Given the description of an element on the screen output the (x, y) to click on. 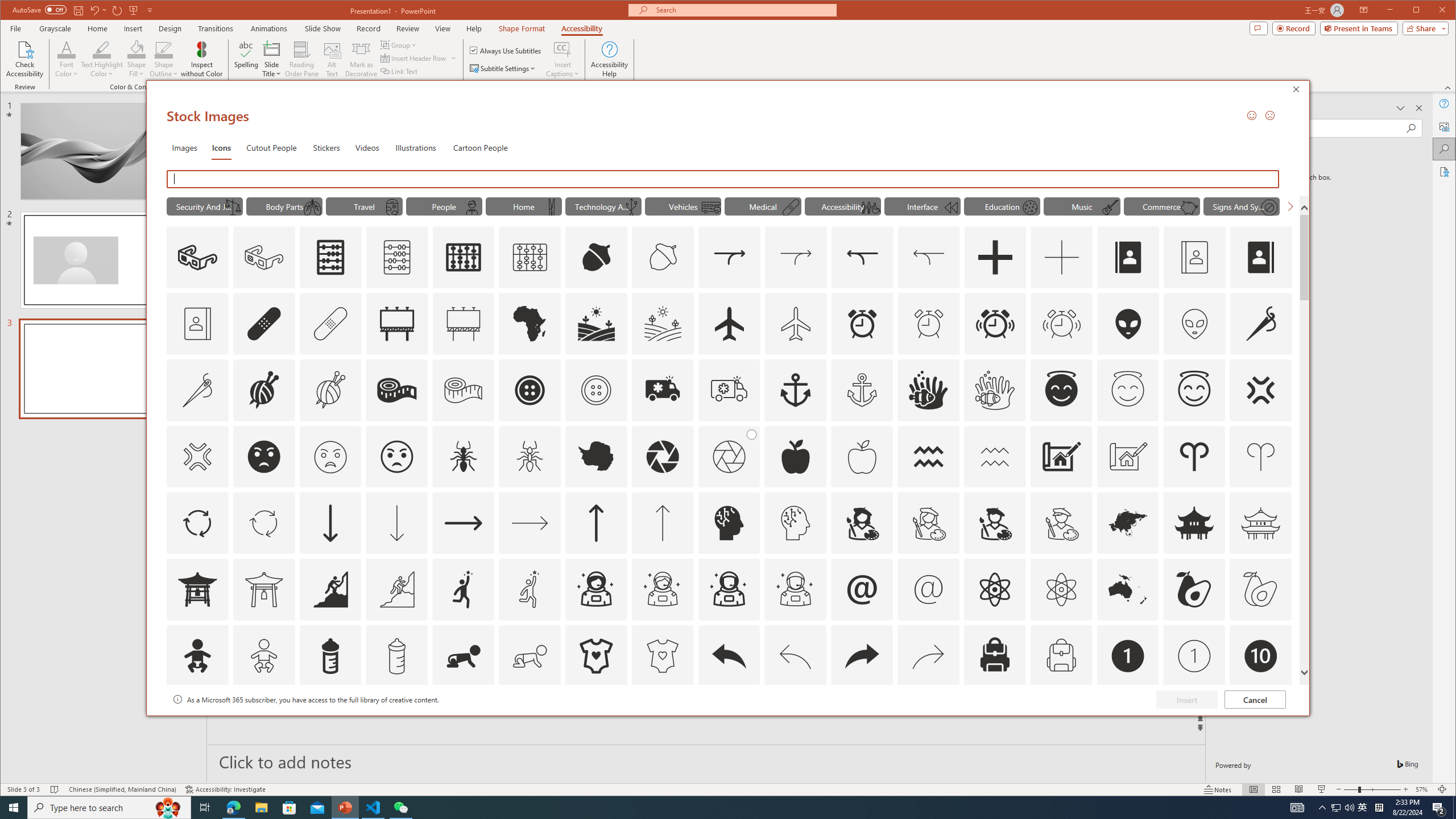
Slide Title (271, 59)
AutomationID: Icons_BabyOnesie (595, 655)
AutomationID: Icons_UniversalAccess_M (870, 207)
Alt Text (331, 59)
Show desktop (1454, 807)
AutomationID: Icons_BabyOnesie_M (662, 655)
File Explorer (261, 807)
Group (399, 44)
AutomationID: Icons_Aquarius (928, 456)
